Given the description of an element on the screen output the (x, y) to click on. 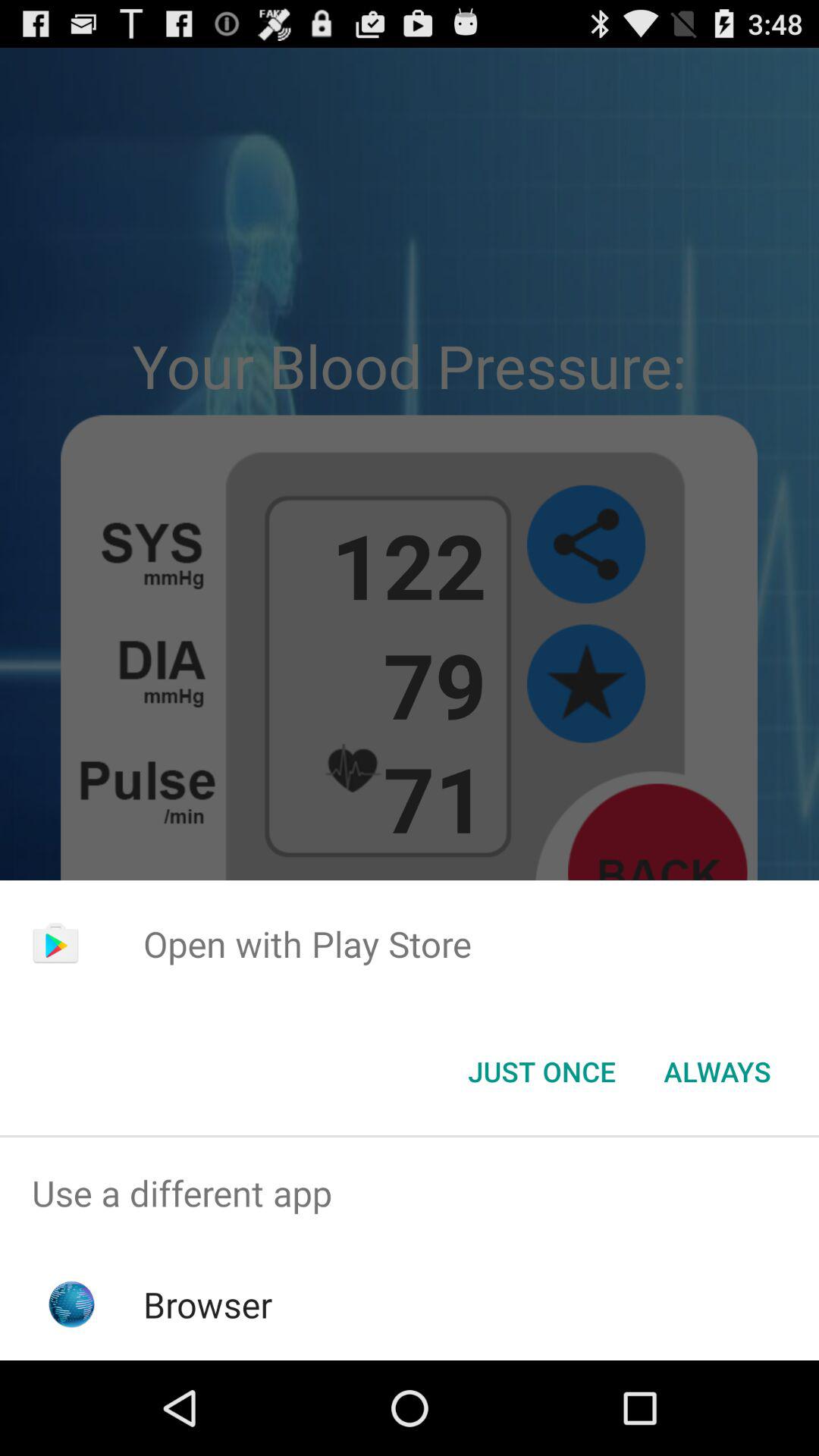
press just once icon (541, 1071)
